Given the description of an element on the screen output the (x, y) to click on. 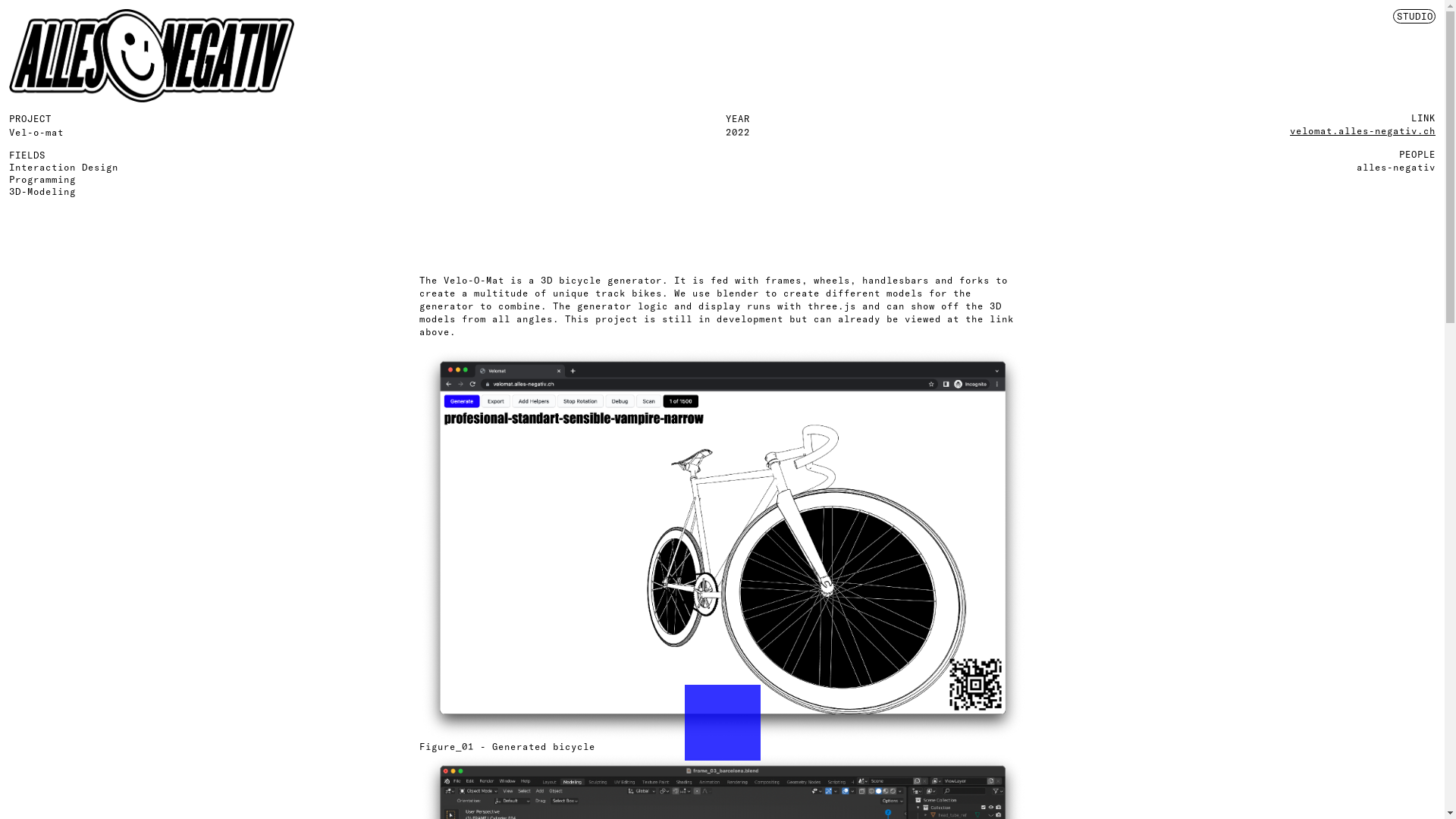
STUDIO Element type: text (1414, 16)
velomat.alles-negativ.ch Element type: text (1362, 129)
